Given the description of an element on the screen output the (x, y) to click on. 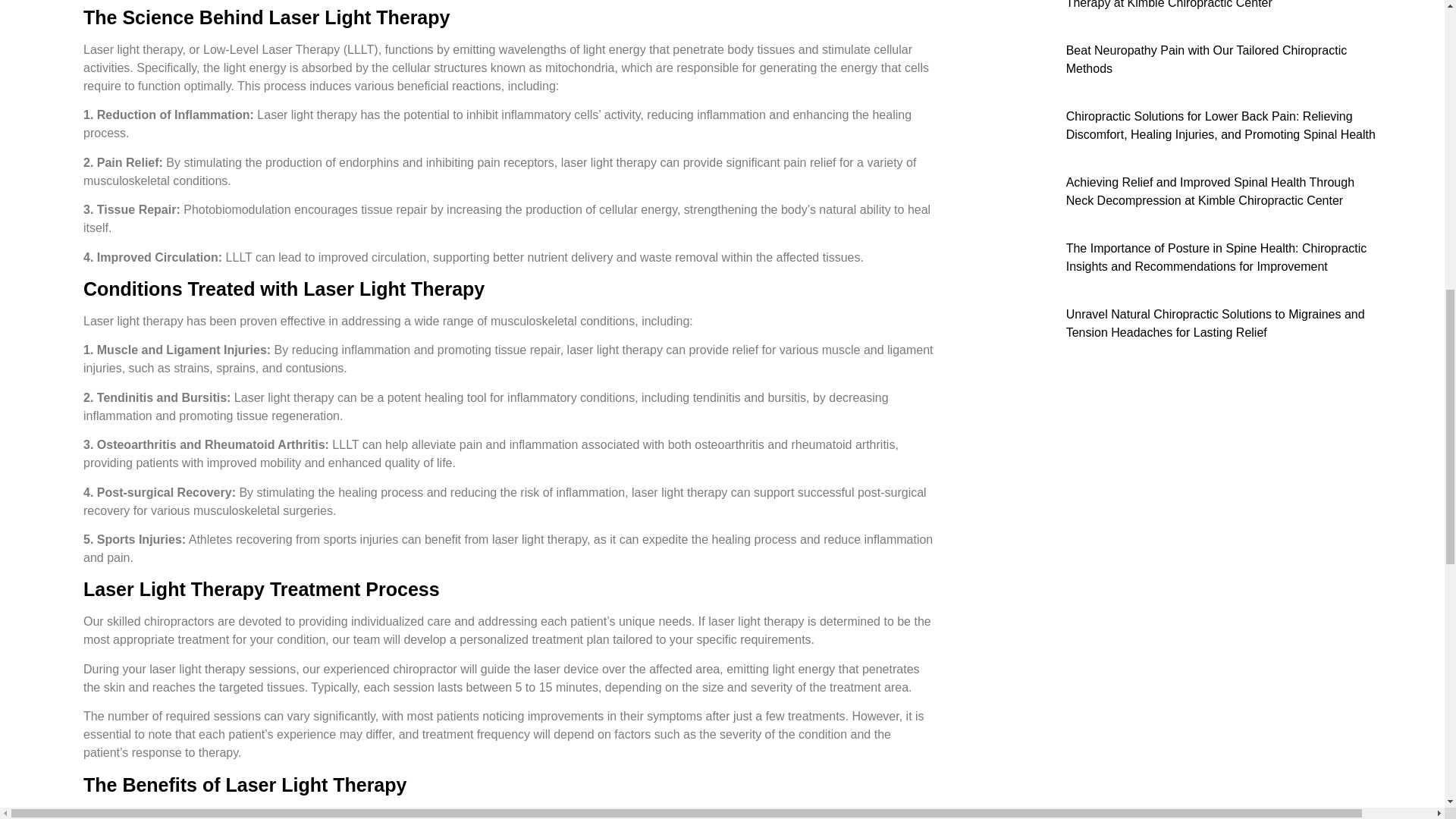
Beat Neuropathy Pain with Our Tailored Chiropractic Methods (1173, 59)
